Given the description of an element on the screen output the (x, y) to click on. 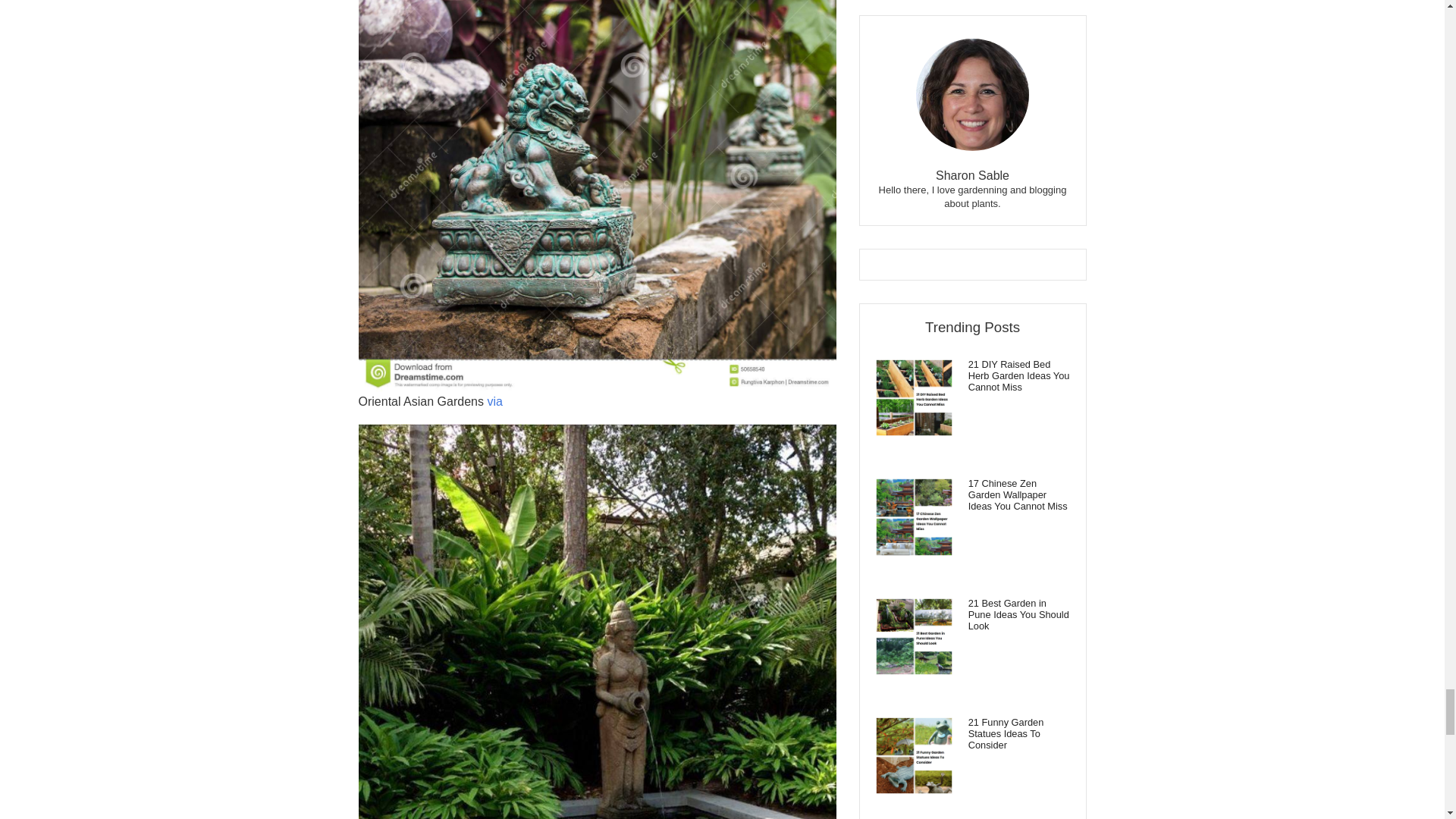
via (494, 400)
